Given the description of an element on the screen output the (x, y) to click on. 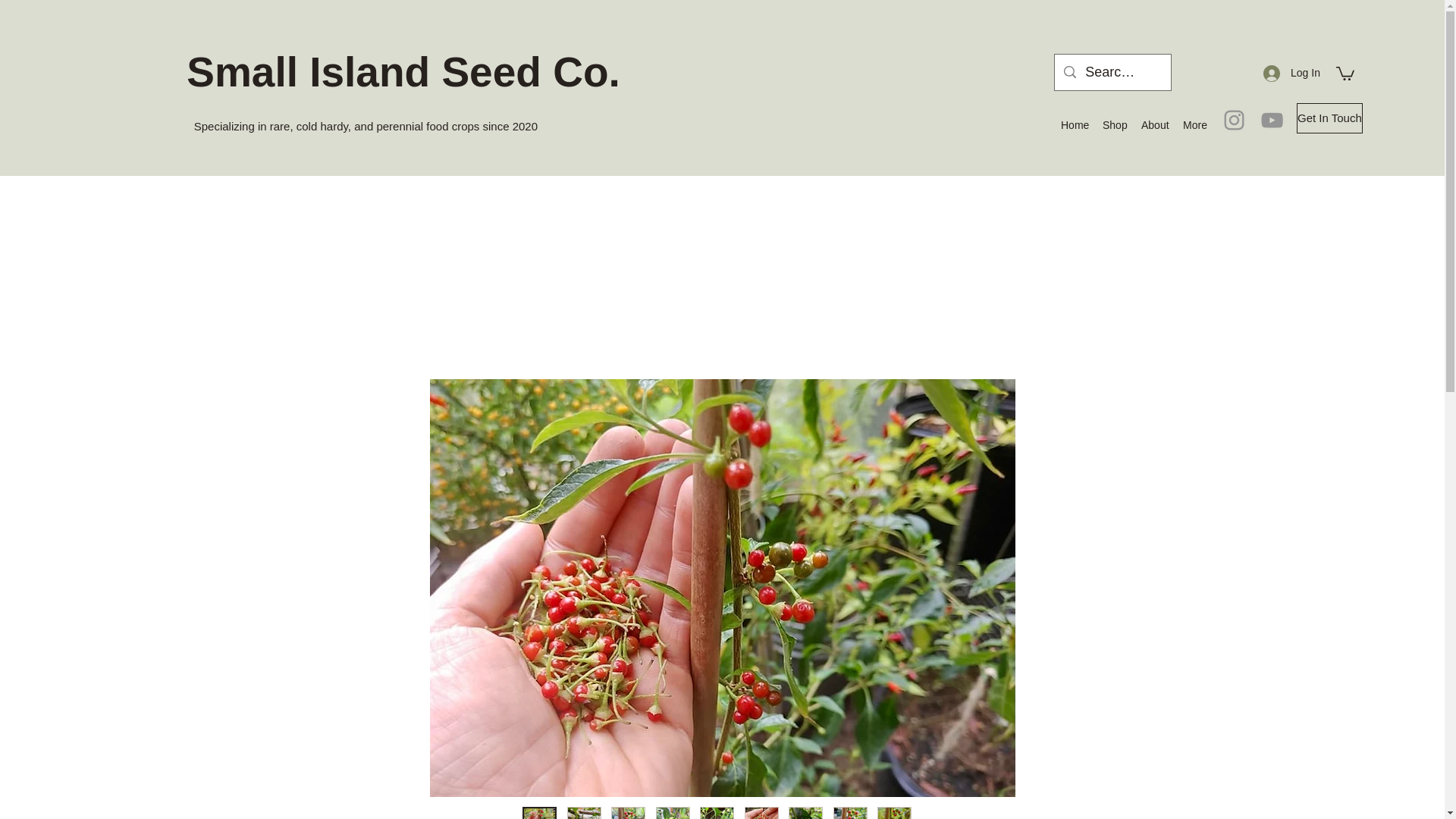
Home (1073, 124)
About (1154, 124)
Small Island Seed Co. (403, 71)
Shop (1114, 124)
Log In (1291, 72)
